Given the description of an element on the screen output the (x, y) to click on. 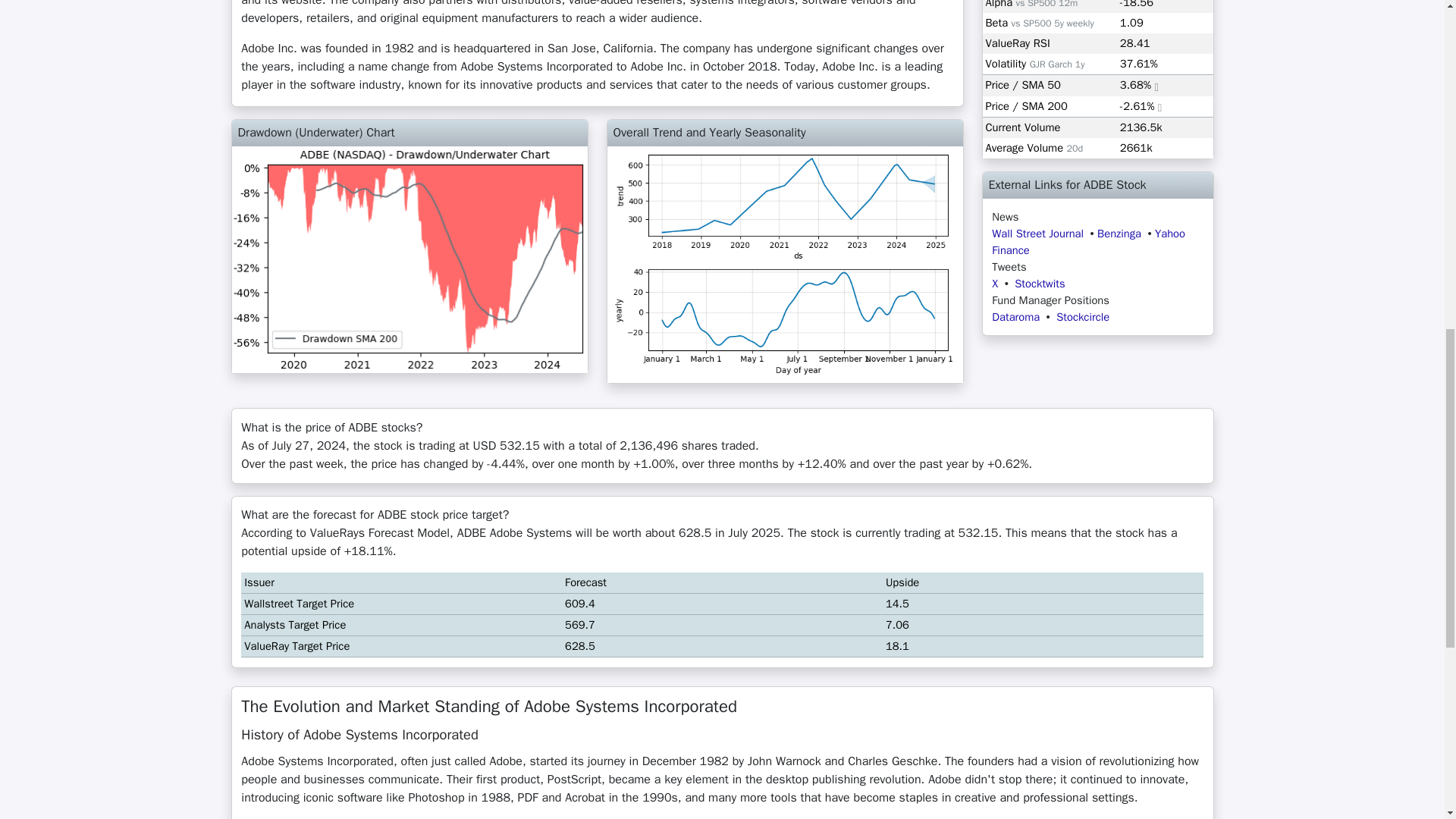
Wall Street Journal (1037, 233)
Dataroma (1015, 316)
Yahoo Finance (1088, 241)
Benzinga (1119, 233)
Stocktwits (1039, 283)
